Given the description of an element on the screen output the (x, y) to click on. 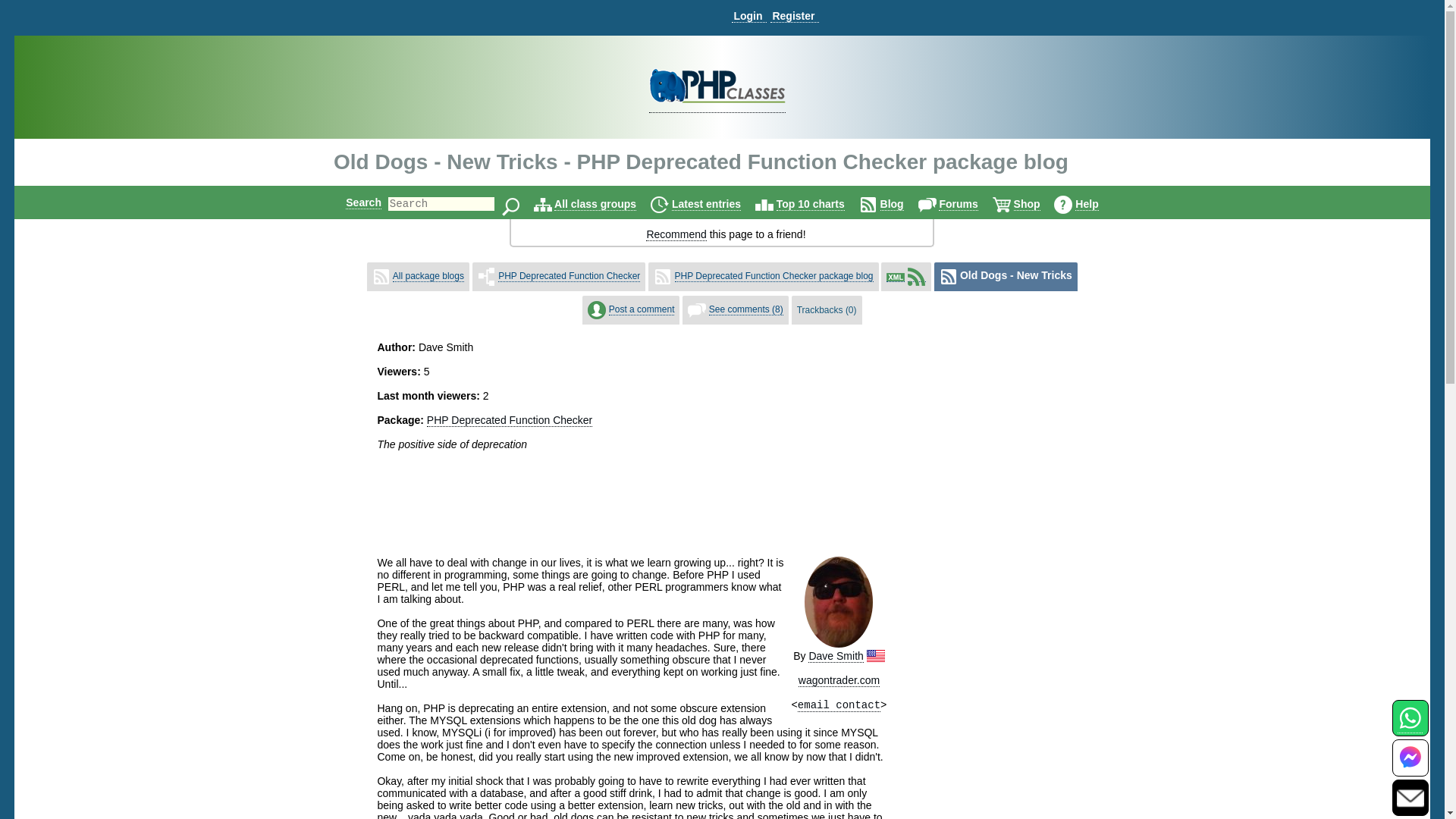
PHP Deprecated Function Checker package blog (774, 276)
Help (1086, 204)
All package blogs (428, 276)
Register (794, 15)
United States (875, 655)
Contact us using email (1409, 797)
Contact us using Messenger (1409, 766)
All class groups (595, 204)
email contact (838, 705)
Top 10 charts (810, 204)
Latest entries (706, 204)
Contact us using WhatsApp (1409, 726)
Post a comment (641, 309)
Shop (1027, 204)
PHP Deprecated Function Checker (568, 276)
